Given the description of an element on the screen output the (x, y) to click on. 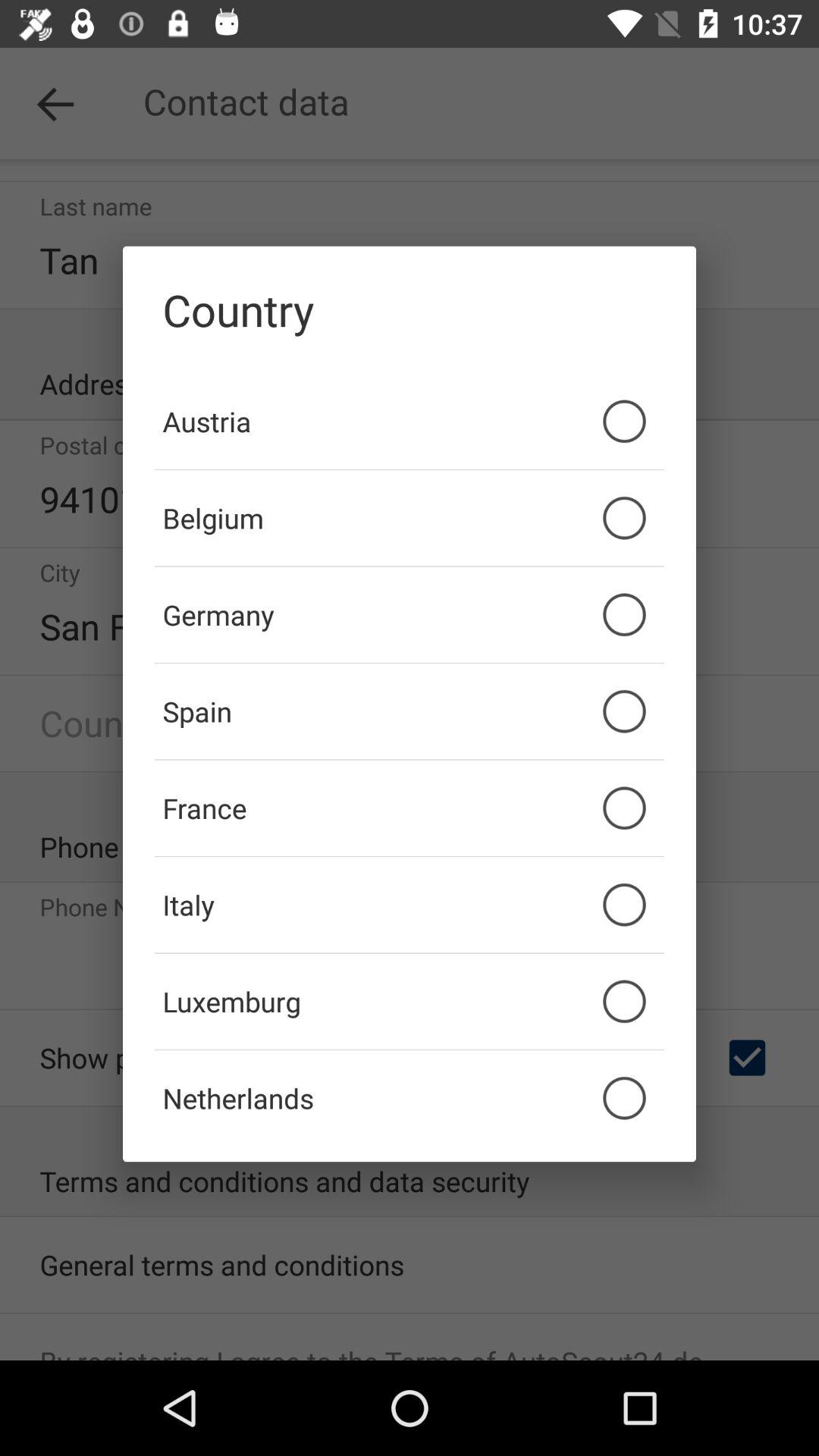
scroll until the netherlands (409, 1098)
